Given the description of an element on the screen output the (x, y) to click on. 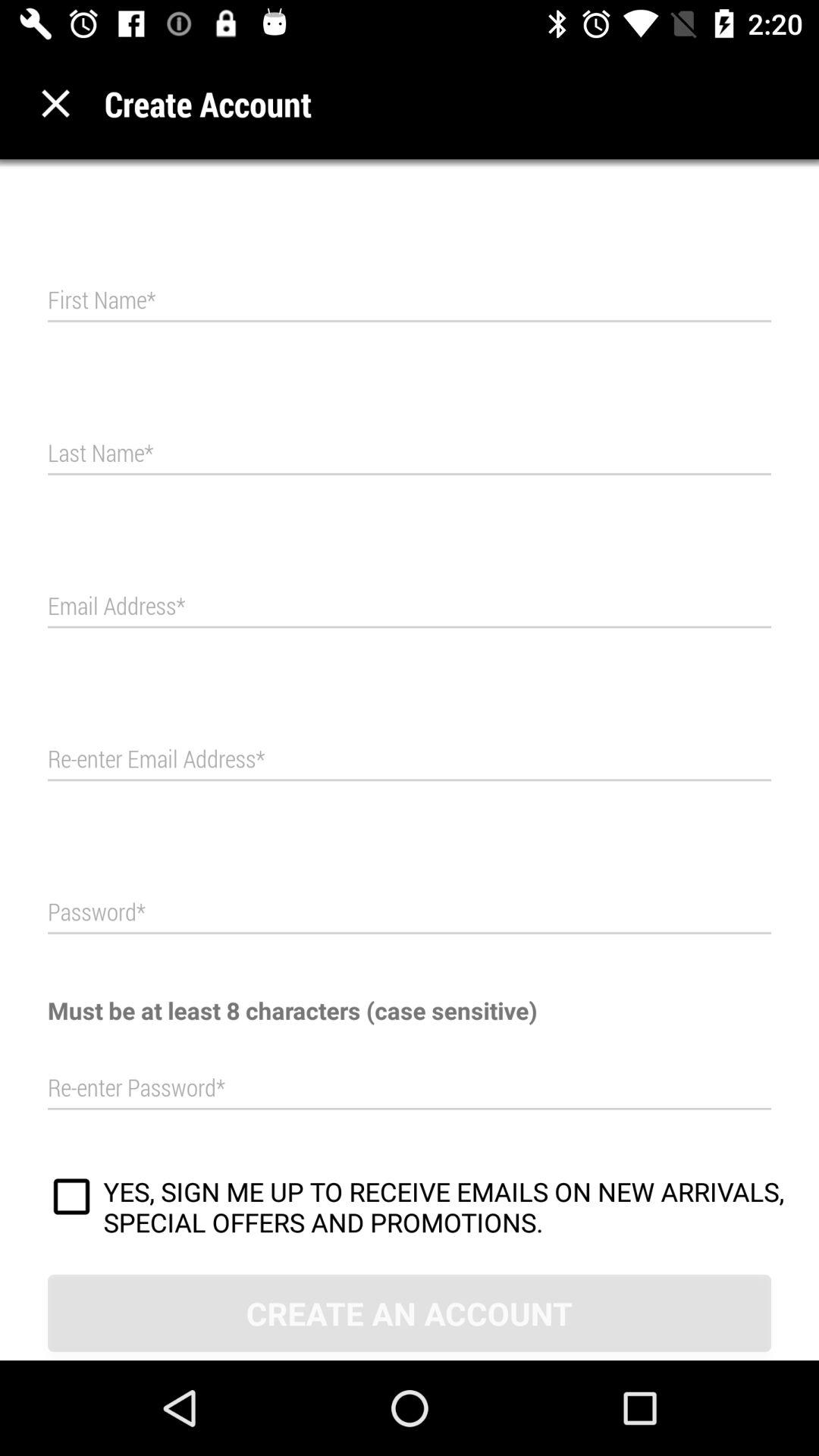
select icon next to the yes sign me (71, 1198)
